Given the description of an element on the screen output the (x, y) to click on. 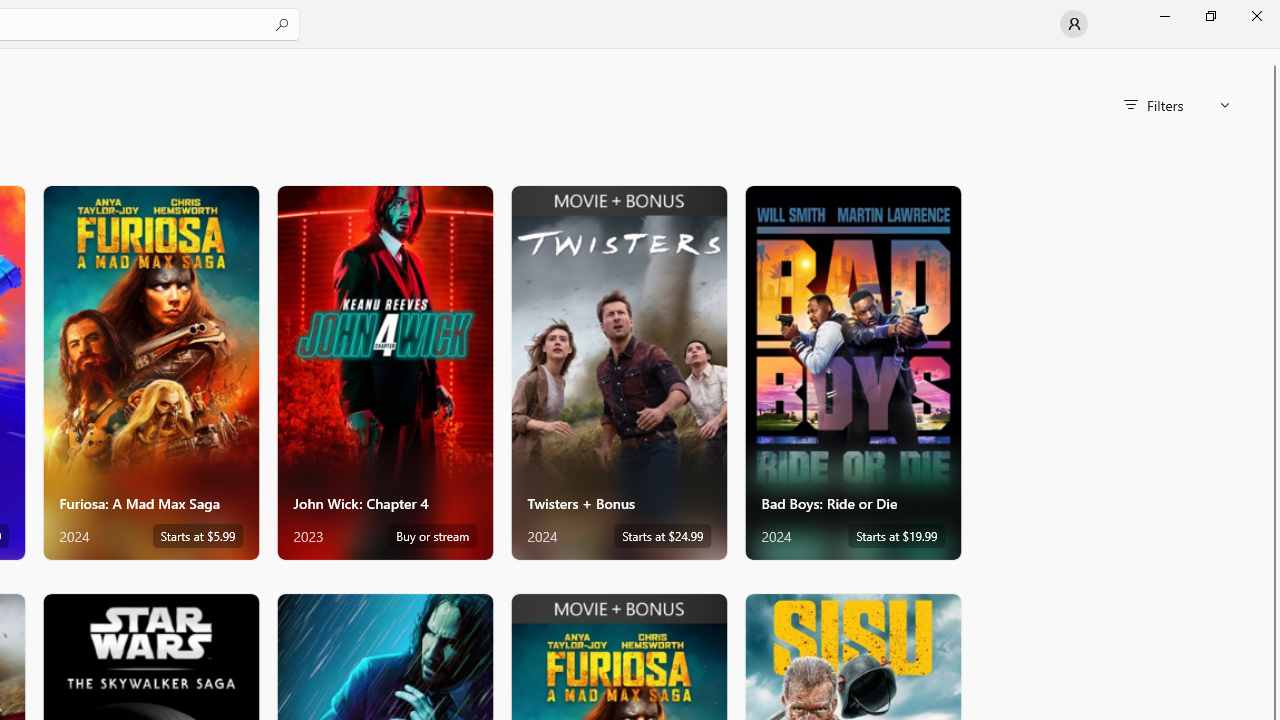
Minimize Microsoft Store (1164, 15)
Close Microsoft Store (1256, 15)
User profile (1073, 24)
Filters (1176, 105)
Twisters + Bonus. Starts at $24.99   (618, 372)
Restore Microsoft Store (1210, 15)
